Given the description of an element on the screen output the (x, y) to click on. 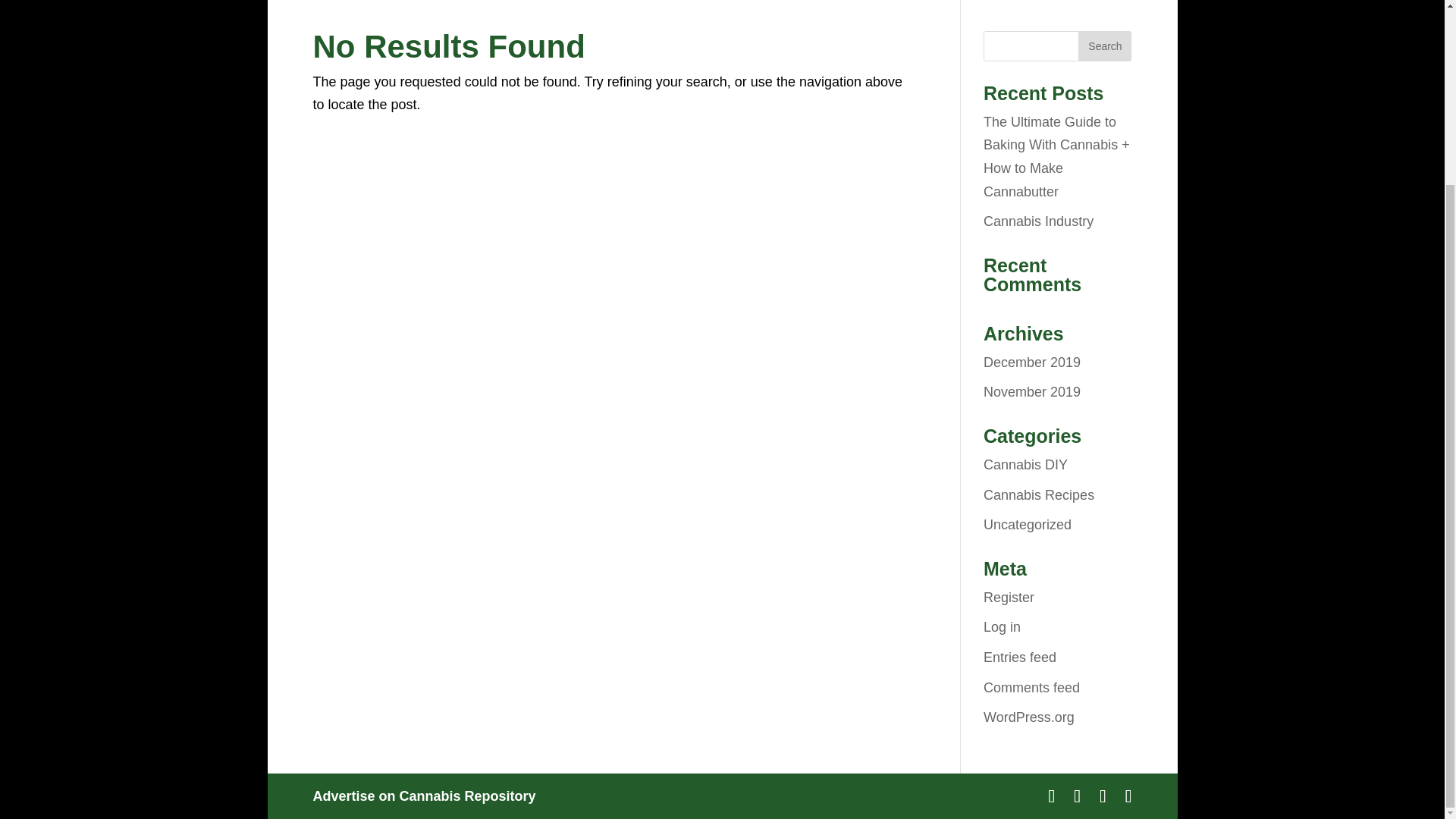
Search (1104, 46)
December 2019 (1032, 362)
Search (1104, 46)
November 2019 (1032, 391)
Cannabis Industry (1038, 221)
